Given the description of an element on the screen output the (x, y) to click on. 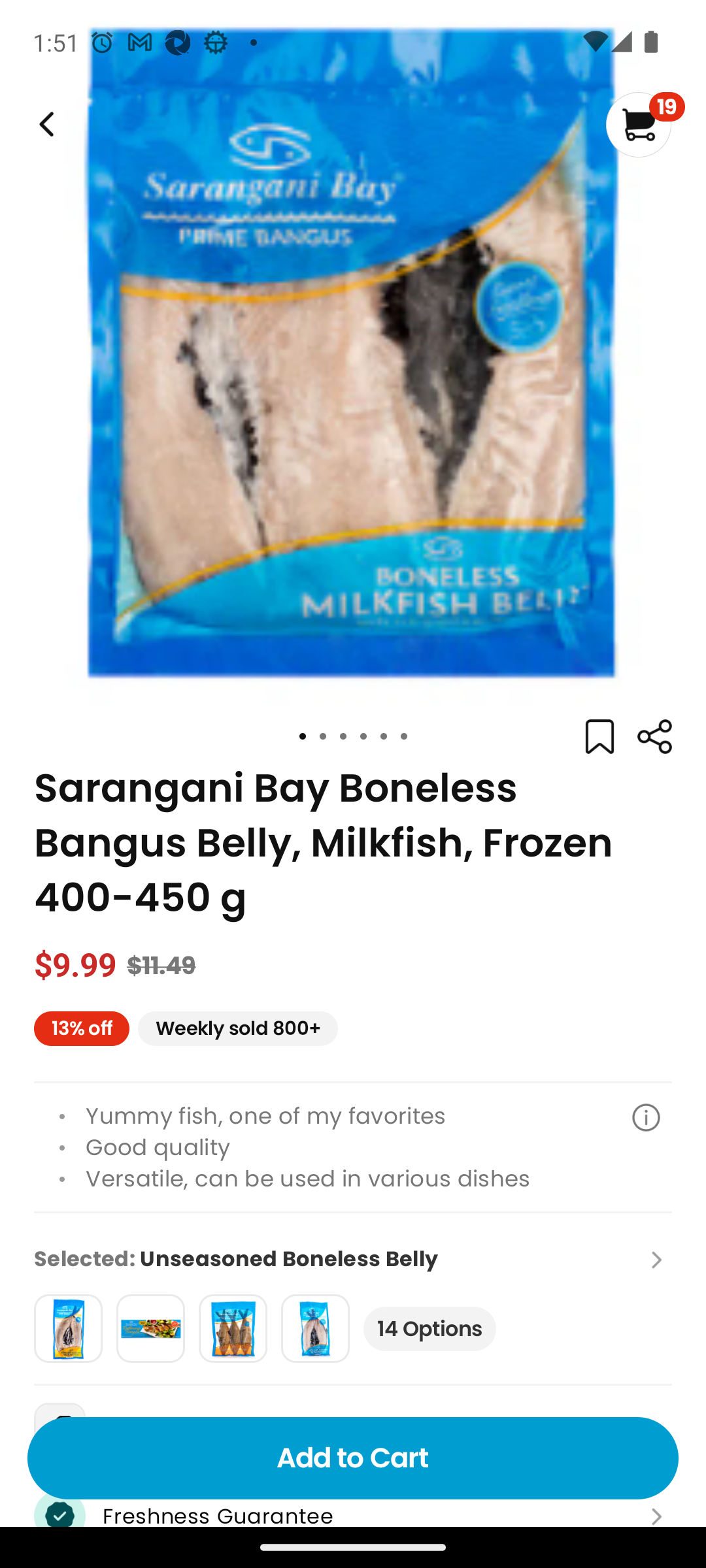
19 (644, 124)
Weee! (45, 124)
Weee! (653, 736)
Selected: Unseasoned Boneless Belly 14 Options (352, 1297)
Add to Cart (352, 1458)
